Given the description of an element on the screen output the (x, y) to click on. 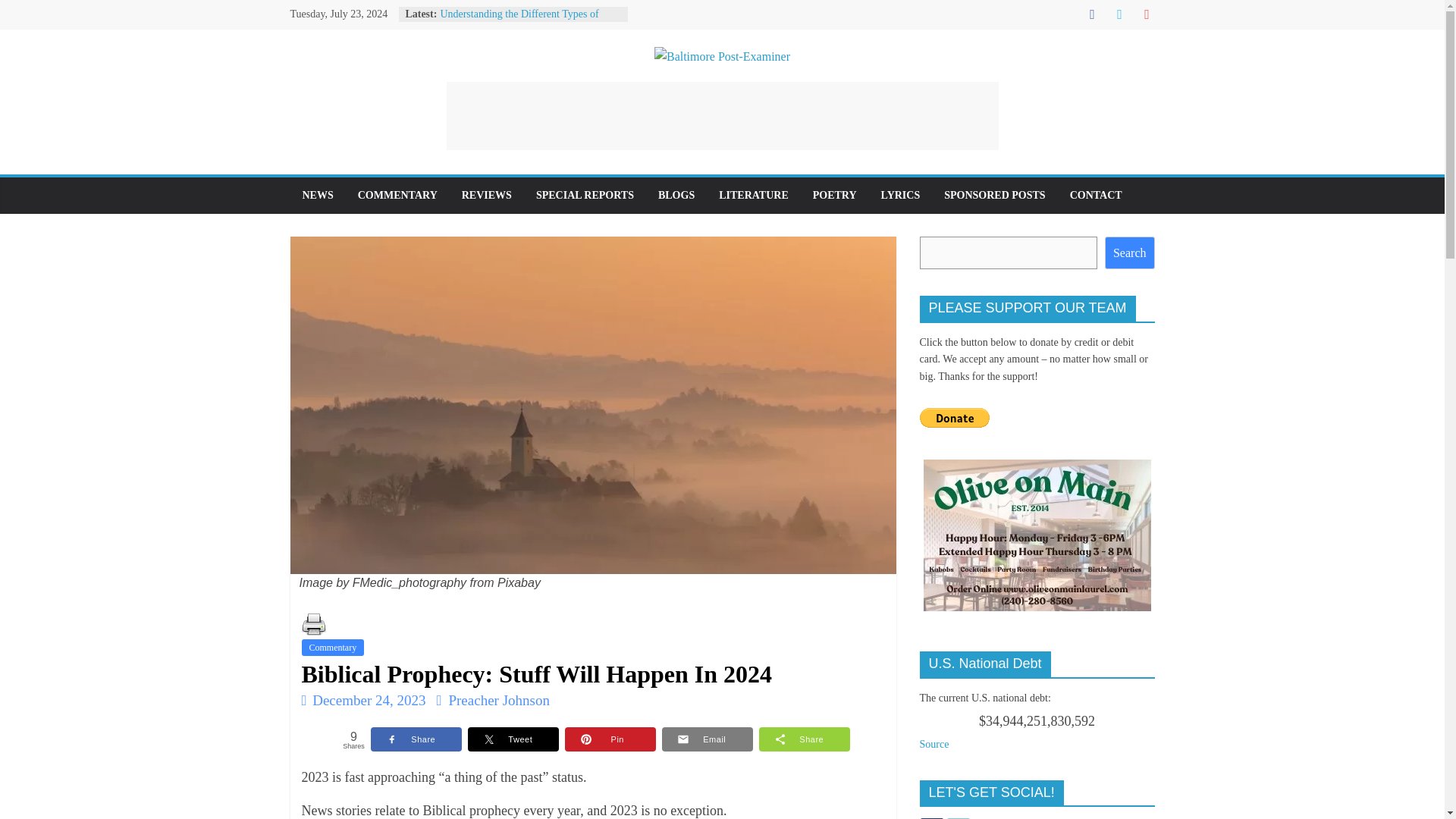
Preacher Johnson (499, 700)
REVIEWS (486, 195)
SPONSORED POSTS (994, 195)
Understanding the Different Types of Custom Antibodies (518, 21)
NEWS (317, 195)
8:01 AM (363, 700)
Search (1129, 253)
December 24, 2023 (363, 700)
BLOGS (676, 195)
Commentary (333, 647)
POETRY (834, 195)
Source (933, 744)
Preacher Johnson (499, 700)
Advertisement (721, 115)
LITERATURE (753, 195)
